Given the description of an element on the screen output the (x, y) to click on. 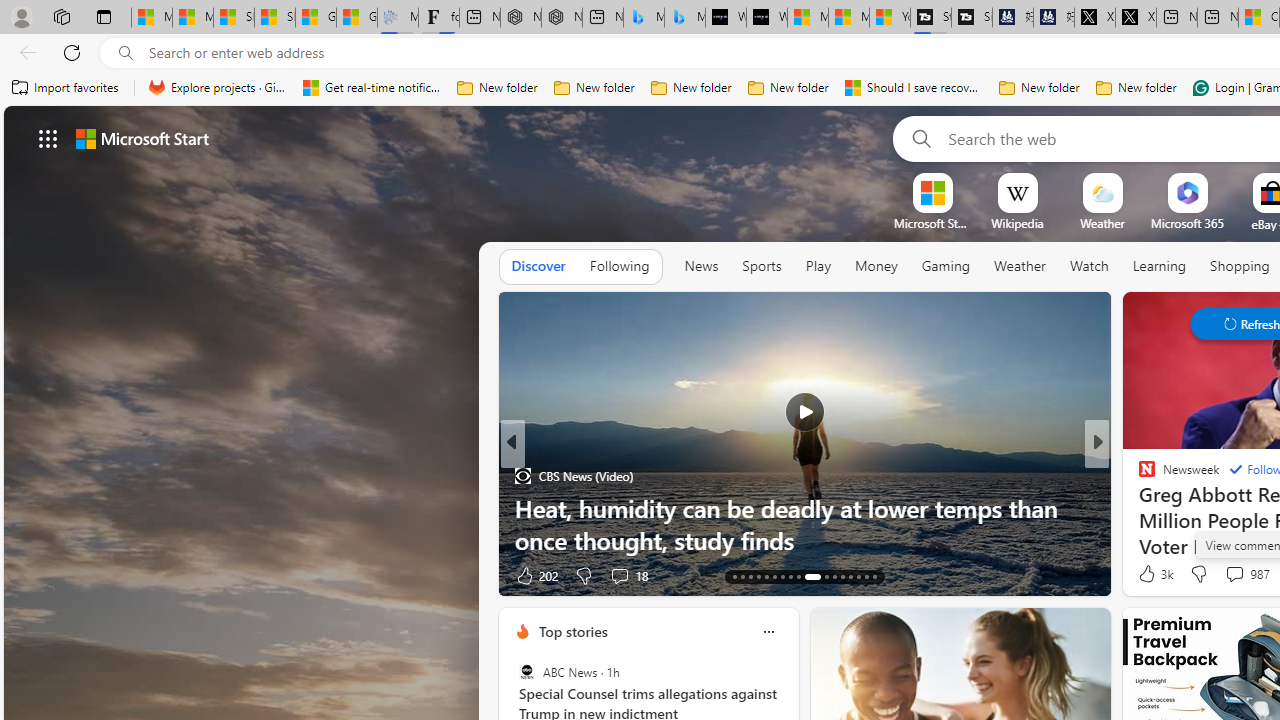
Microsoft 365 (1186, 223)
Gilma and Hector both pose tropical trouble for Hawaii (356, 17)
View comments 18 Comment (628, 574)
Nordace.com (1165, 507)
AutomationID: tab-24 (833, 576)
New folder (1136, 88)
More options (768, 631)
New tab (1217, 17)
Back (24, 52)
Microsoft Start (849, 17)
202 Like (535, 574)
View comments 17 Comment (1234, 575)
Shopping (1240, 265)
Gaming (945, 267)
View comments 1 Comment (1229, 575)
